Given the description of an element on the screen output the (x, y) to click on. 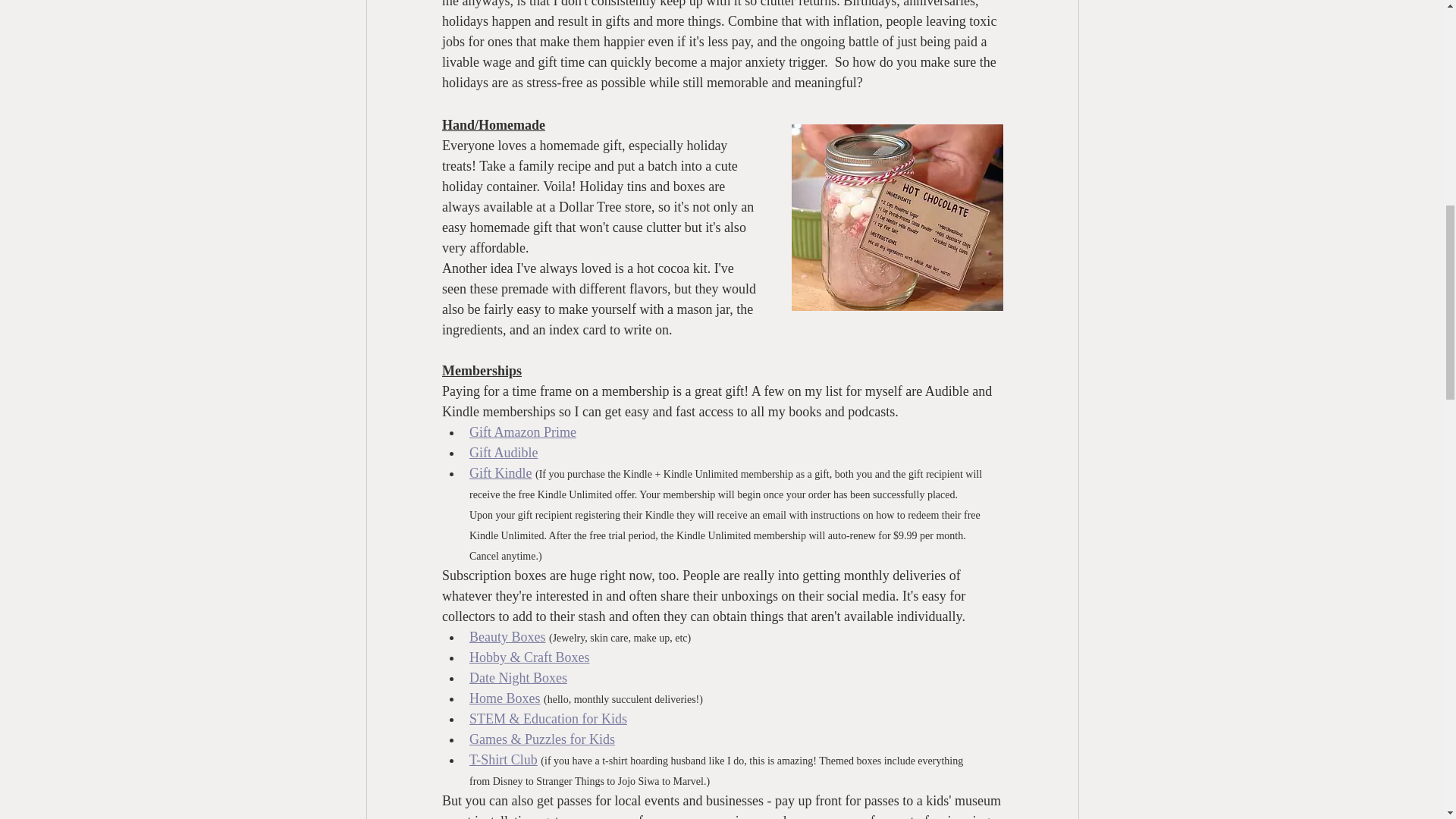
Home Boxes (504, 698)
Gift Kindle (499, 473)
Date Night Boxes (517, 677)
Gift Amazon Prime (521, 432)
T-Shirt Club (502, 759)
Gift Audible (502, 452)
Beauty Boxes (506, 636)
